Given the description of an element on the screen output the (x, y) to click on. 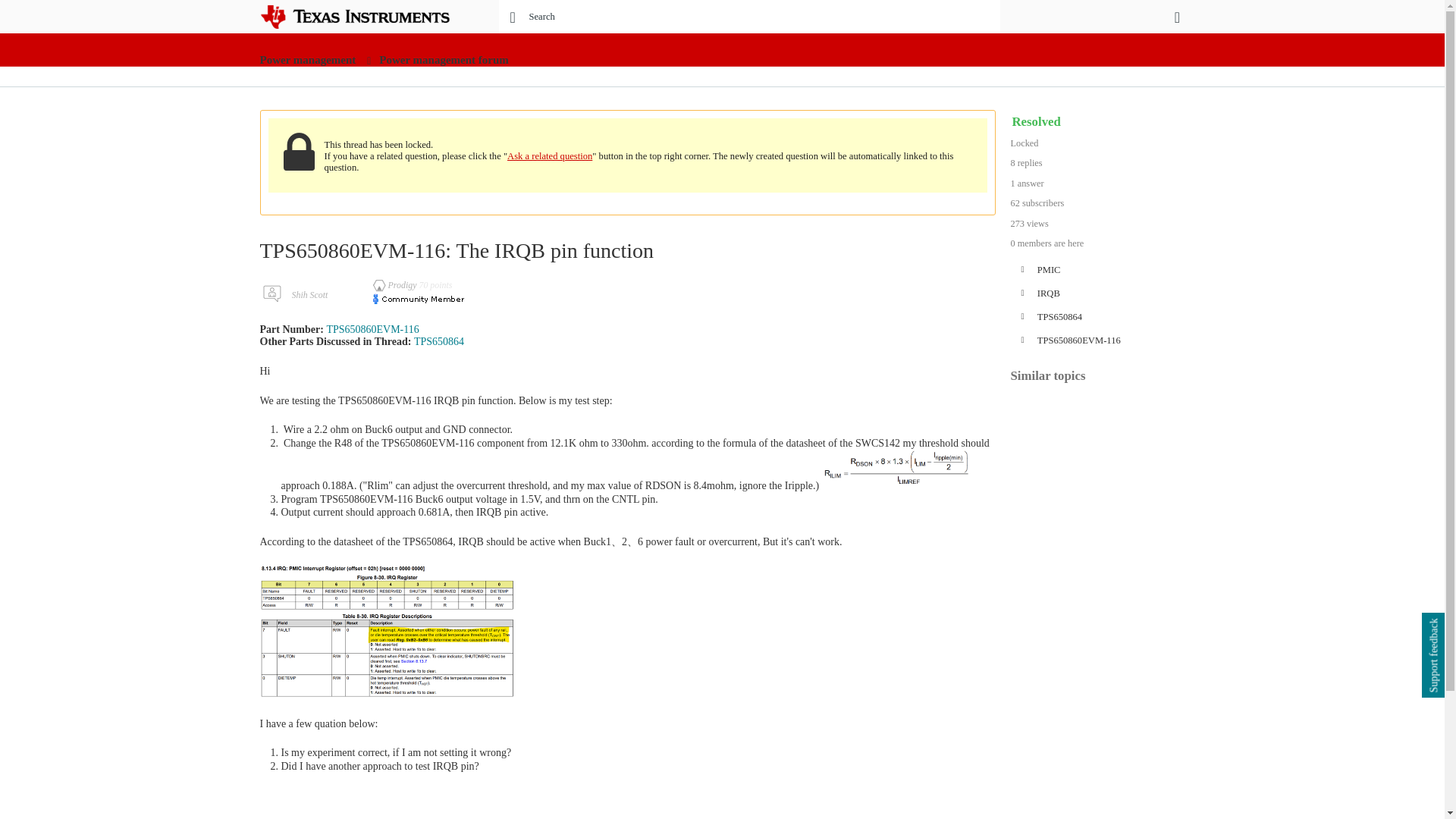
Join or sign in (1177, 17)
Home (365, 16)
User (1177, 17)
Click here for explanation of levels (395, 285)
Link to Tool Folder (372, 328)
Link to Product Folder (438, 341)
